Given the description of an element on the screen output the (x, y) to click on. 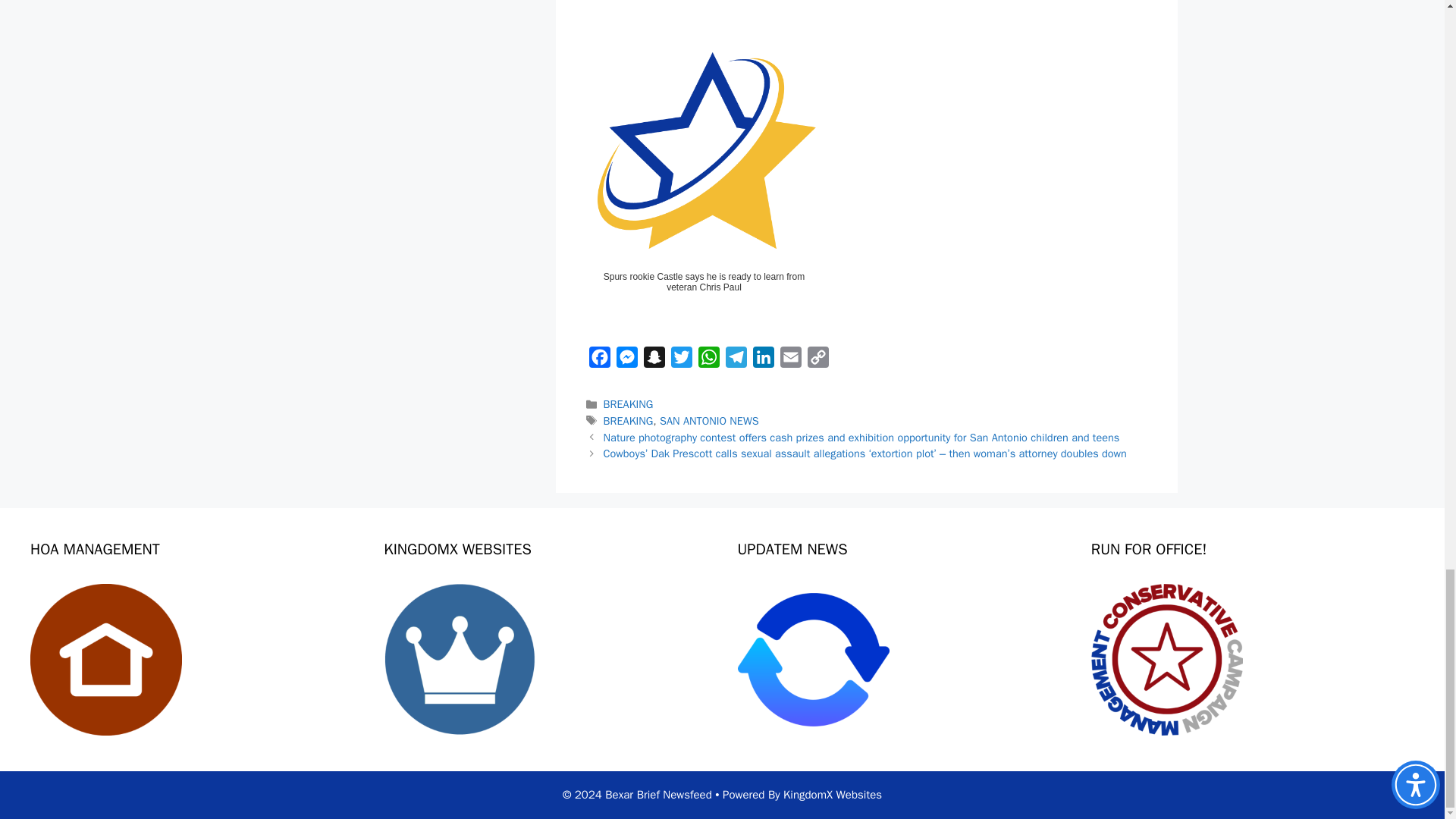
Telegram (735, 360)
Email (789, 360)
SAN ANTONIO NEWS (708, 420)
BREAKING (628, 404)
Facebook (598, 360)
BREAKING (628, 420)
Snapchat (653, 360)
Snapchat (653, 360)
Twitter (680, 360)
Messenger (626, 360)
Facebook (598, 360)
LinkedIn (762, 360)
Copy Link (817, 360)
Messenger (626, 360)
